Given the description of an element on the screen output the (x, y) to click on. 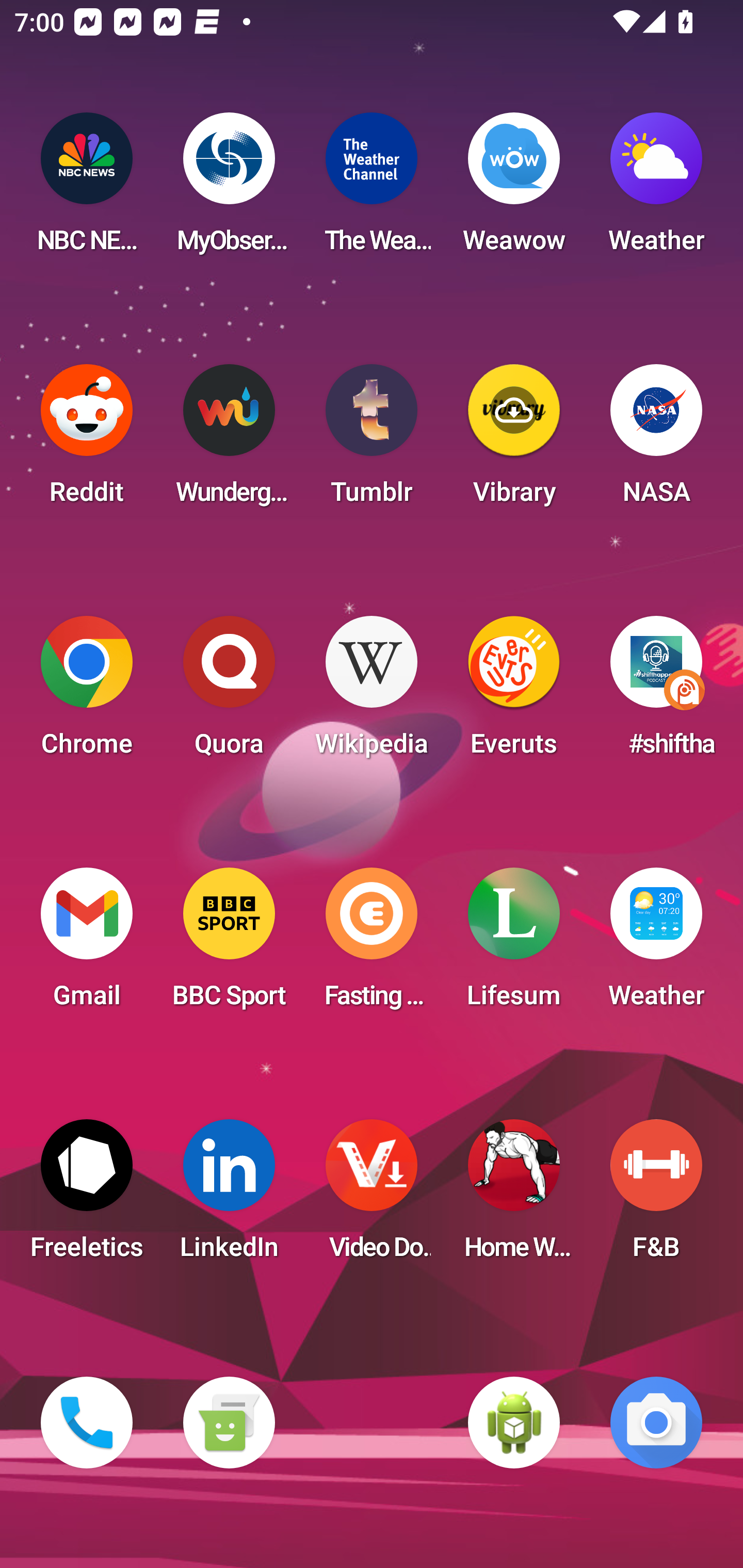
NBC NEWS (86, 188)
MyObservatory (228, 188)
The Weather Channel (371, 188)
Weawow (513, 188)
Weather (656, 188)
Reddit (86, 440)
Wunderground (228, 440)
Tumblr (371, 440)
Vibrary (513, 440)
NASA (656, 440)
Chrome (86, 692)
Quora (228, 692)
Wikipedia (371, 692)
Everuts (513, 692)
#shifthappens in the Digital Workplace Podcast (656, 692)
Gmail (86, 943)
BBC Sport (228, 943)
Fasting Coach (371, 943)
Lifesum (513, 943)
Weather (656, 943)
Freeletics (86, 1195)
LinkedIn (228, 1195)
Video Downloader & Ace Player (371, 1195)
Home Workout (513, 1195)
F&B (656, 1195)
Phone (86, 1422)
Messaging (228, 1422)
WebView Browser Tester (513, 1422)
Camera (656, 1422)
